Given the description of an element on the screen output the (x, y) to click on. 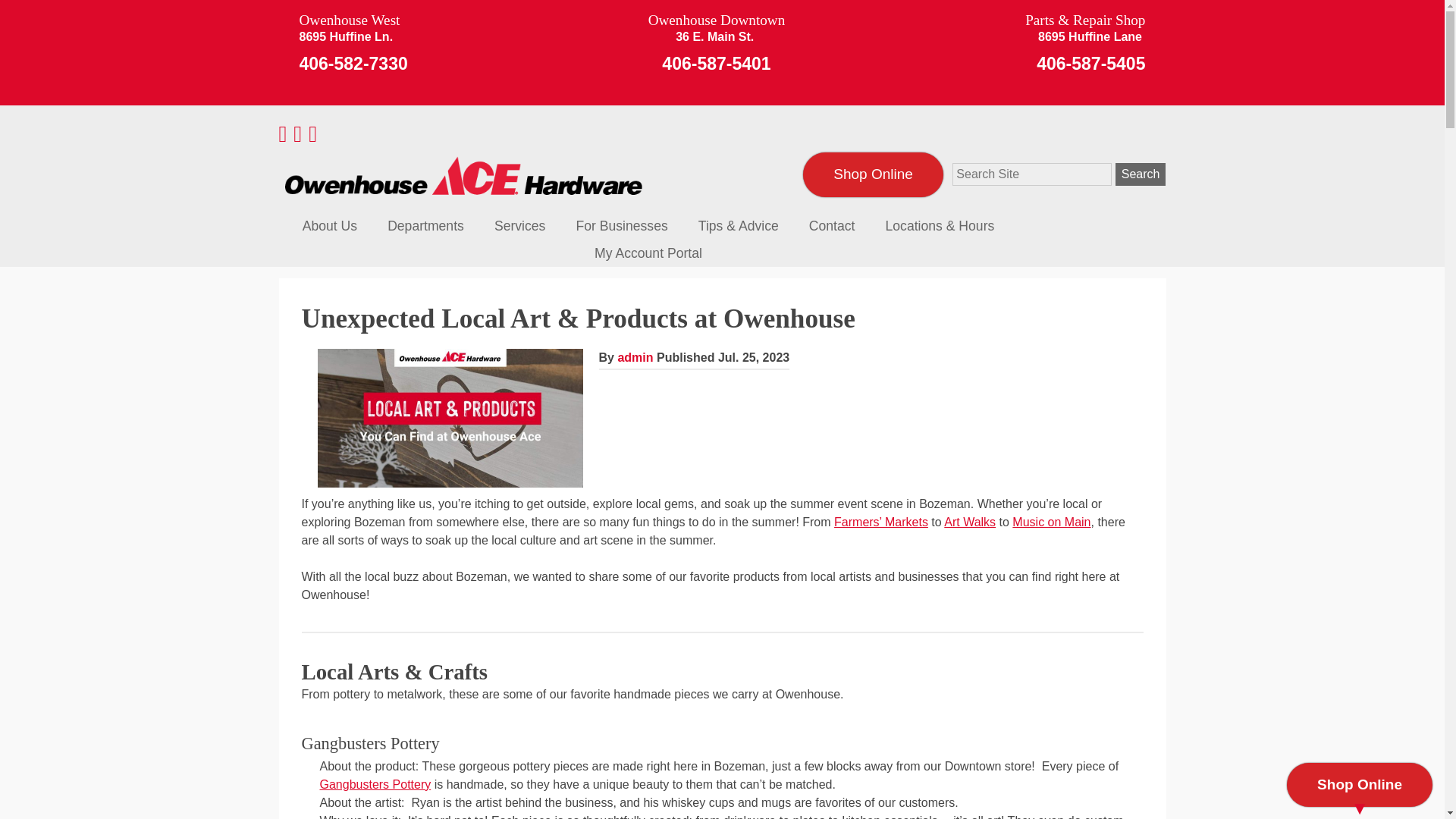
Owenhouse Downtown (716, 19)
Shop Online (873, 174)
About Us (329, 225)
Search (1140, 173)
Services (519, 225)
Departments (425, 225)
Owenhouse West (352, 19)
